Given the description of an element on the screen output the (x, y) to click on. 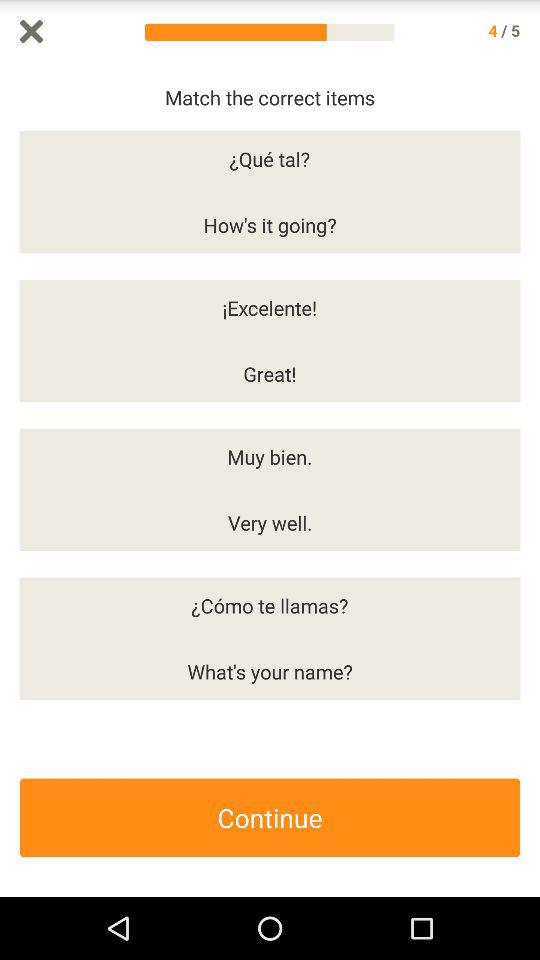
close the window used (31, 31)
